Given the description of an element on the screen output the (x, y) to click on. 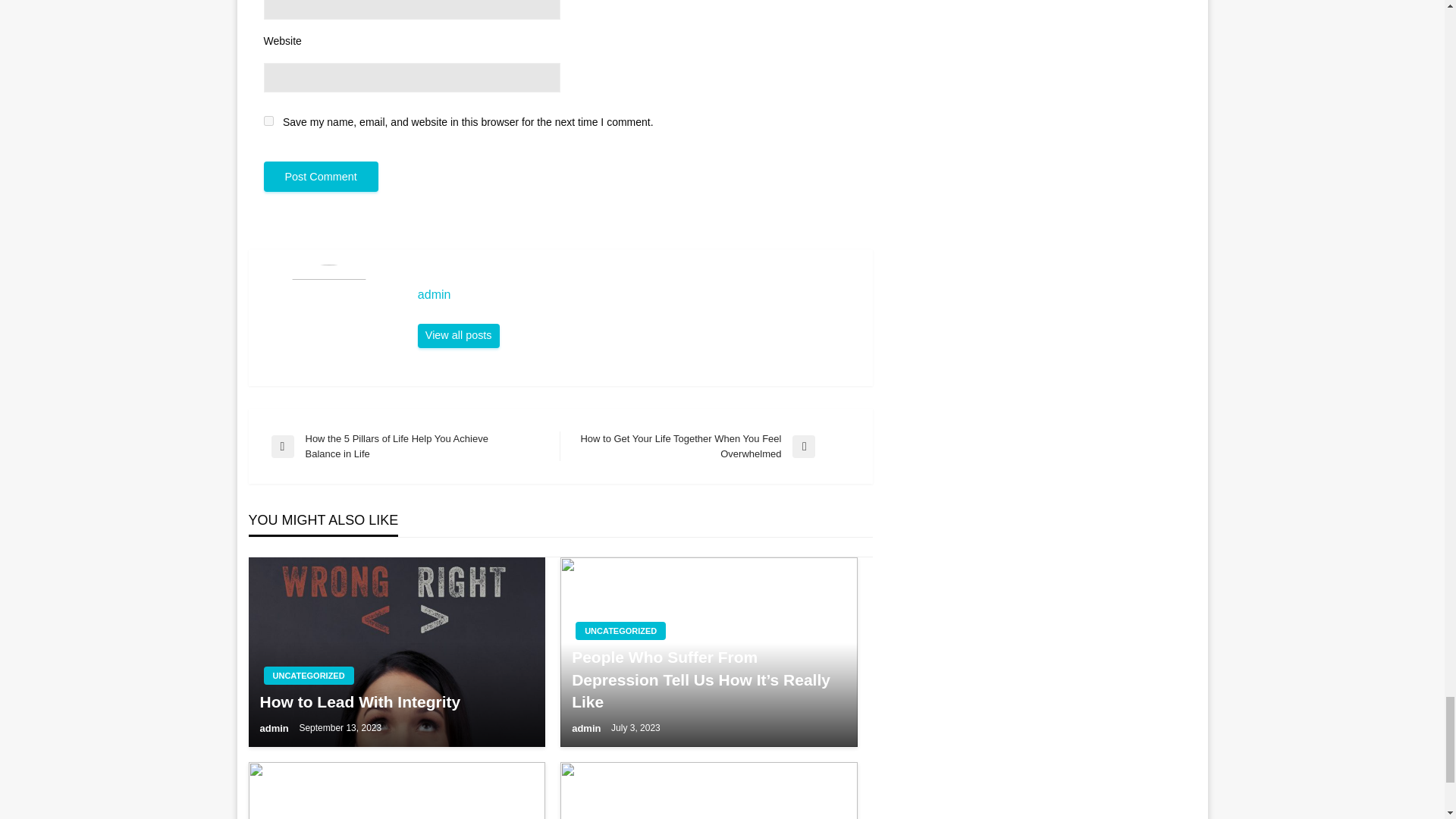
admin (458, 335)
admin (637, 294)
How to Lead With Integrity (396, 701)
admin (275, 727)
admin (588, 727)
View all posts (458, 335)
yes (268, 121)
admin (637, 294)
UNCATEGORIZED (620, 630)
